Given the description of an element on the screen output the (x, y) to click on. 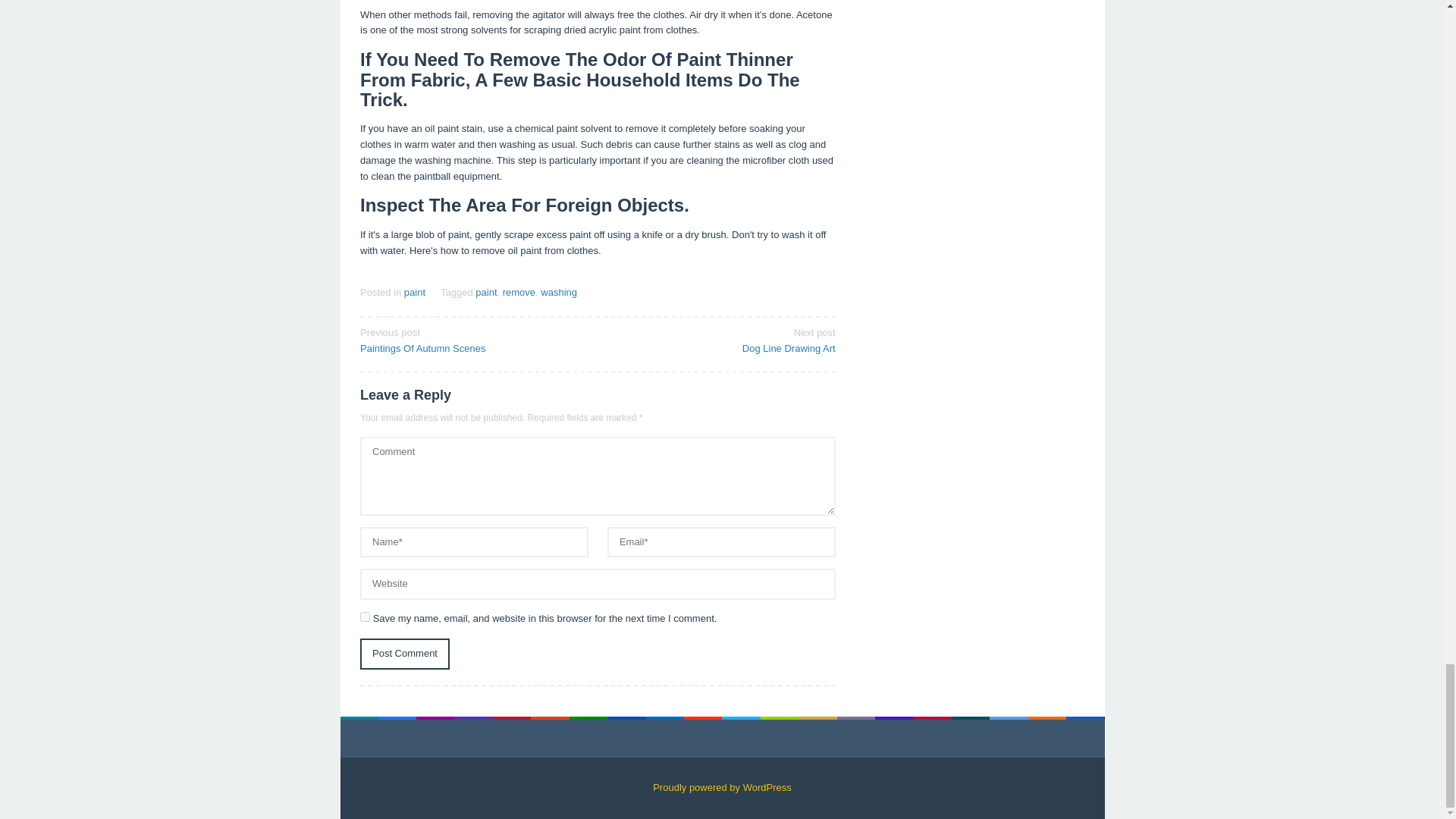
washing (721, 339)
Post Comment (558, 292)
paint (404, 653)
yes (414, 292)
remove (364, 616)
paint (518, 292)
Post Comment (486, 292)
